Given the description of an element on the screen output the (x, y) to click on. 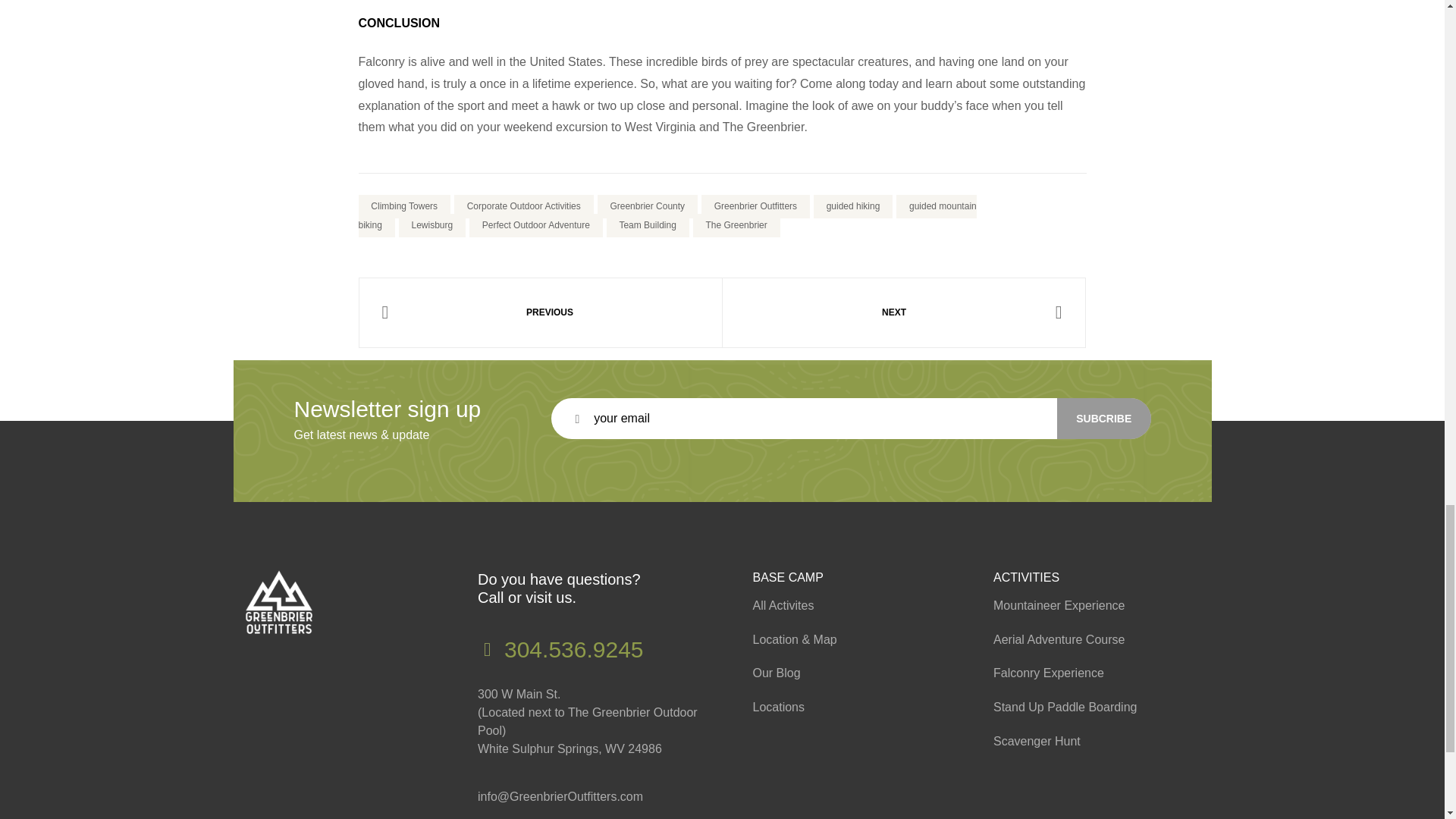
Lewisburg (431, 225)
Perfect Outdoor Adventure (535, 225)
Greenbrier Outfitters (755, 206)
Team Building (647, 225)
Climbing Towers (403, 206)
guided hiking (852, 206)
Greenbrier County (646, 206)
Corporate Outdoor Activities (524, 206)
guided mountain biking (666, 215)
